Given the description of an element on the screen output the (x, y) to click on. 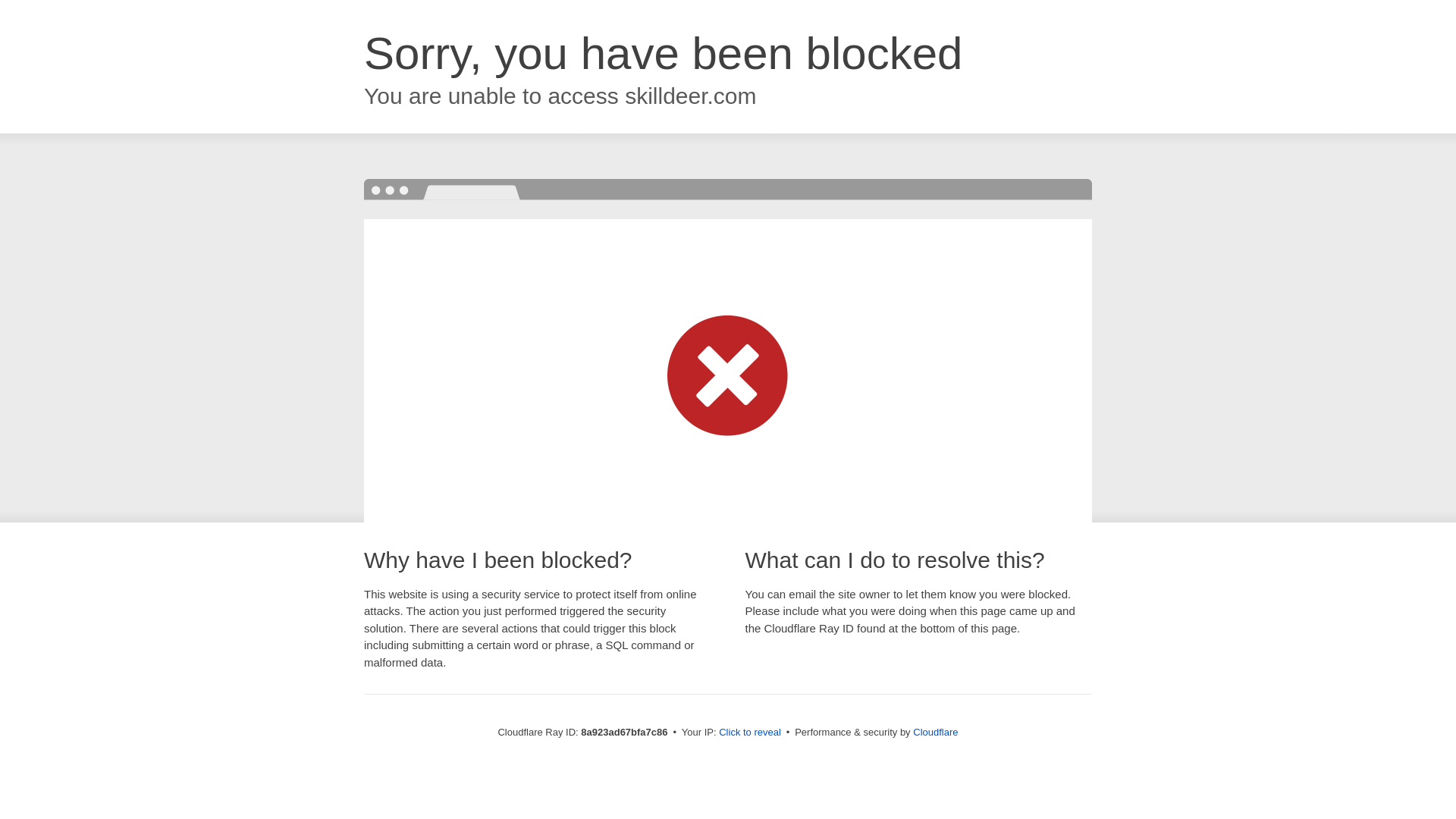
Click to reveal (749, 732)
Cloudflare (935, 731)
